Given the description of an element on the screen output the (x, y) to click on. 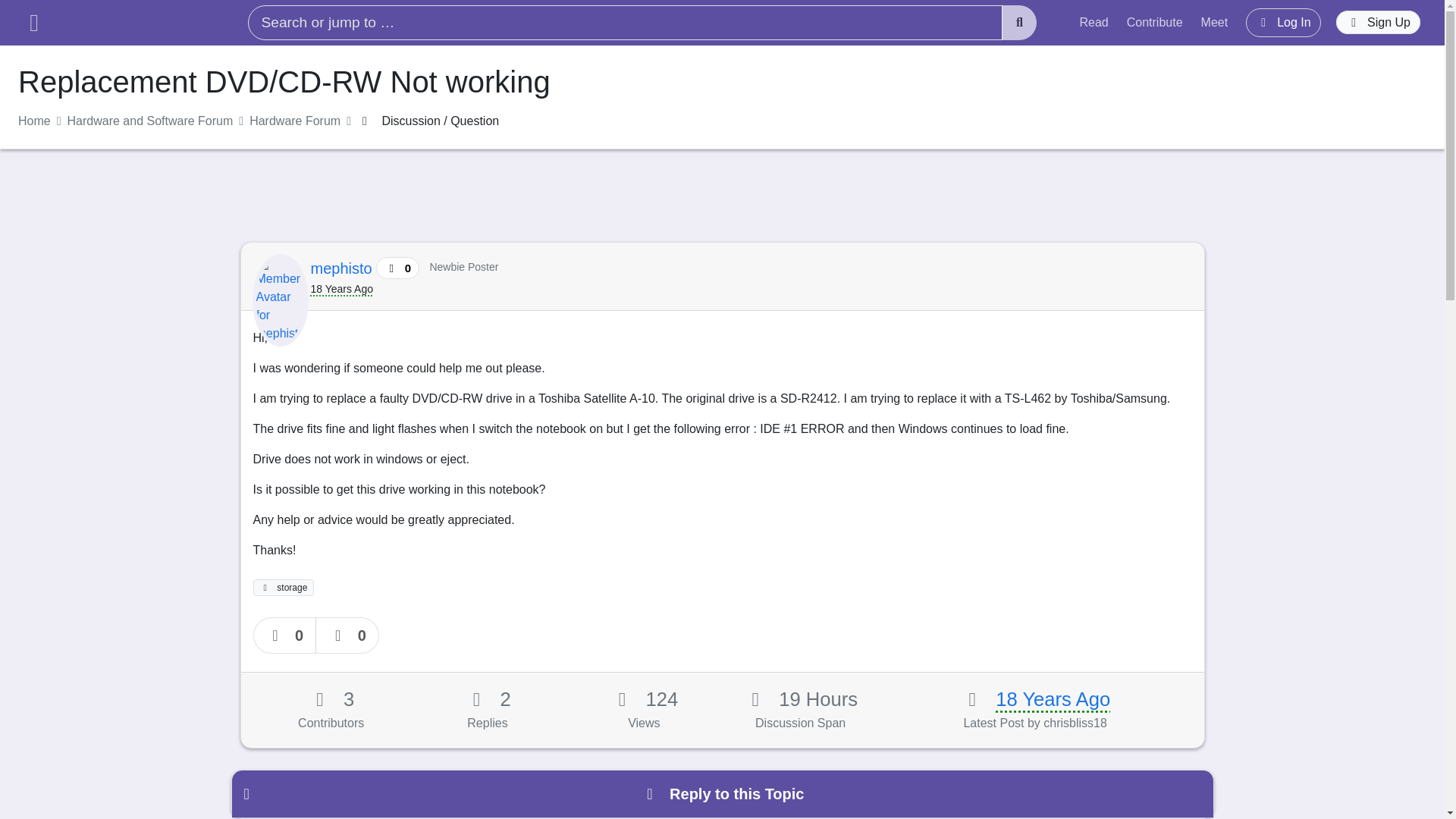
Hardware and Software Forum (149, 120)
Contribute (1155, 22)
0 (285, 635)
DaniWeb (135, 22)
Sign Up (1378, 22)
mephisto (344, 268)
18 Years Ago (1052, 699)
Log In (1283, 22)
Menu (33, 22)
0 (346, 635)
